Given the description of an element on the screen output the (x, y) to click on. 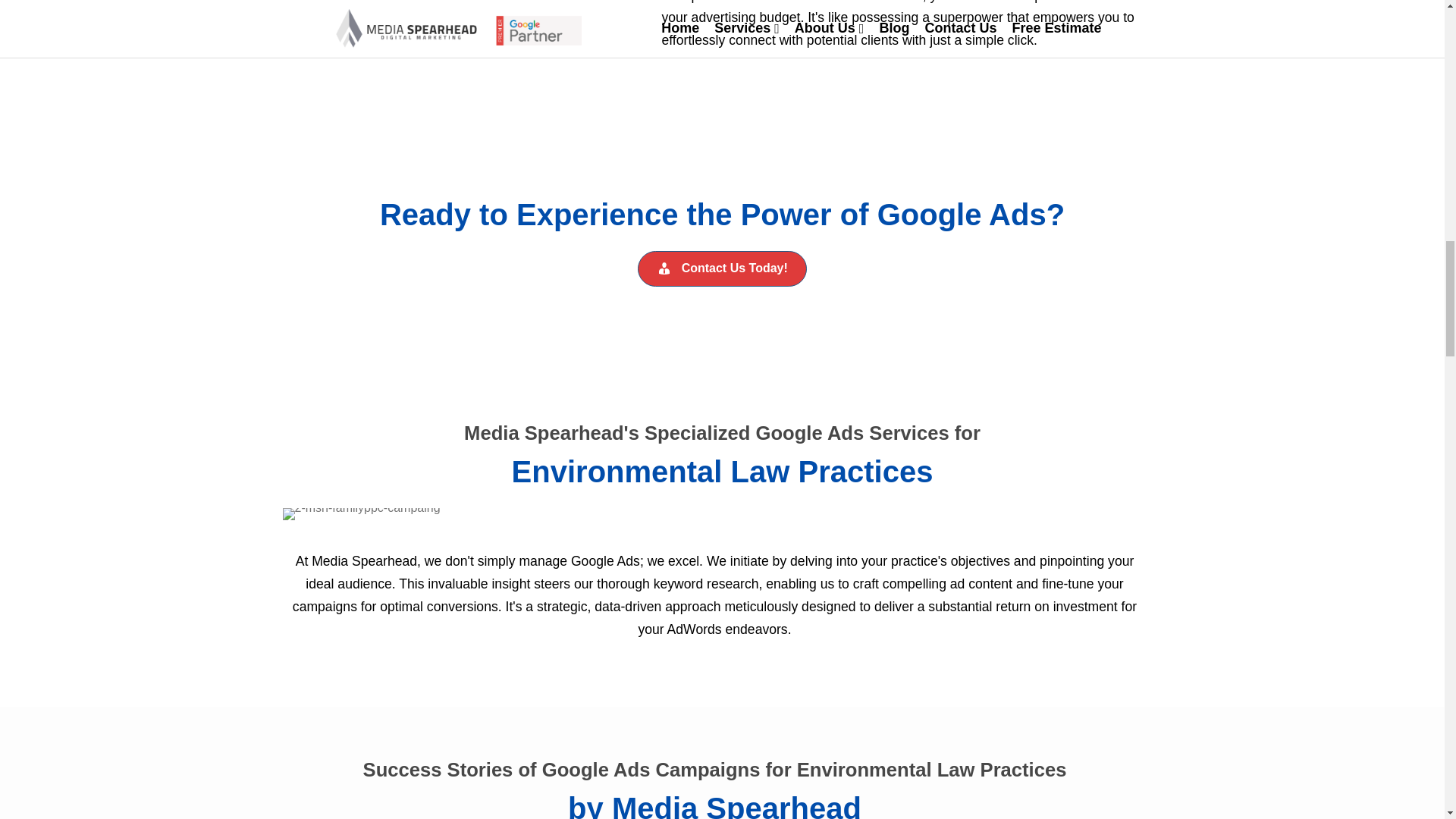
Contact Us Today! (721, 268)
2-msh-familyppc-campaing (360, 513)
